Given the description of an element on the screen output the (x, y) to click on. 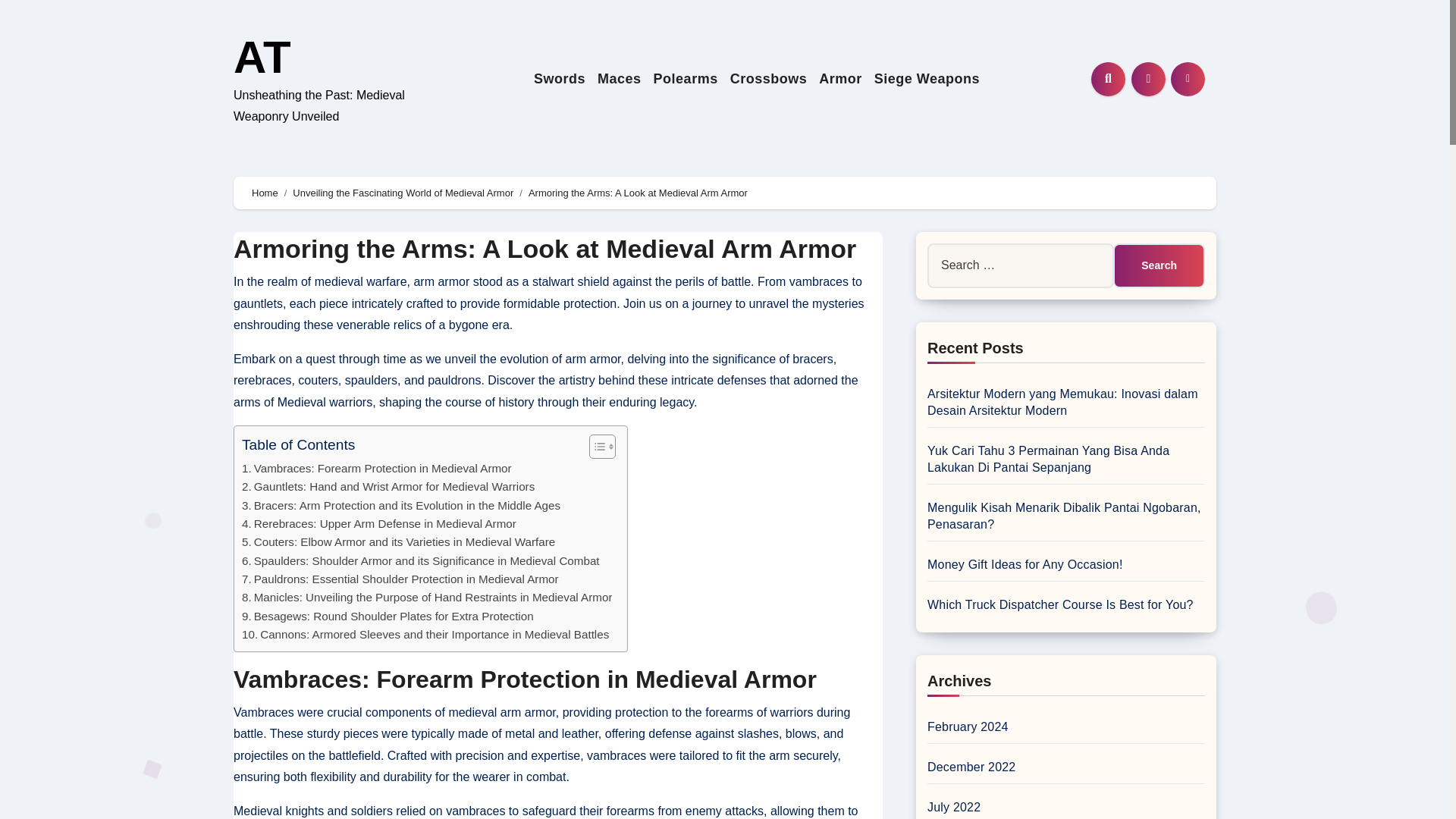
Polearms (685, 78)
Couters: Elbow Armor and its Varieties in Medieval Warfare (397, 542)
Gauntlets: Hand and Wrist Armor for Medieval Warriors (387, 486)
AT (261, 56)
Swords (559, 78)
Home (264, 193)
Vambraces: Forearm Protection in Medieval Armor (376, 468)
Besagews: Round Shoulder Plates for Extra Protection (387, 616)
Rerebraces: Upper Arm Defense in Medieval Armor (378, 524)
Search (1159, 265)
Rerebraces: Upper Arm Defense in Medieval Armor (378, 524)
Swords (559, 78)
Crossbows (768, 78)
Pauldrons: Essential Shoulder Protection in Medieval Armor (400, 579)
Couters: Elbow Armor and its Varieties in Medieval Warfare (397, 542)
